Given the description of an element on the screen output the (x, y) to click on. 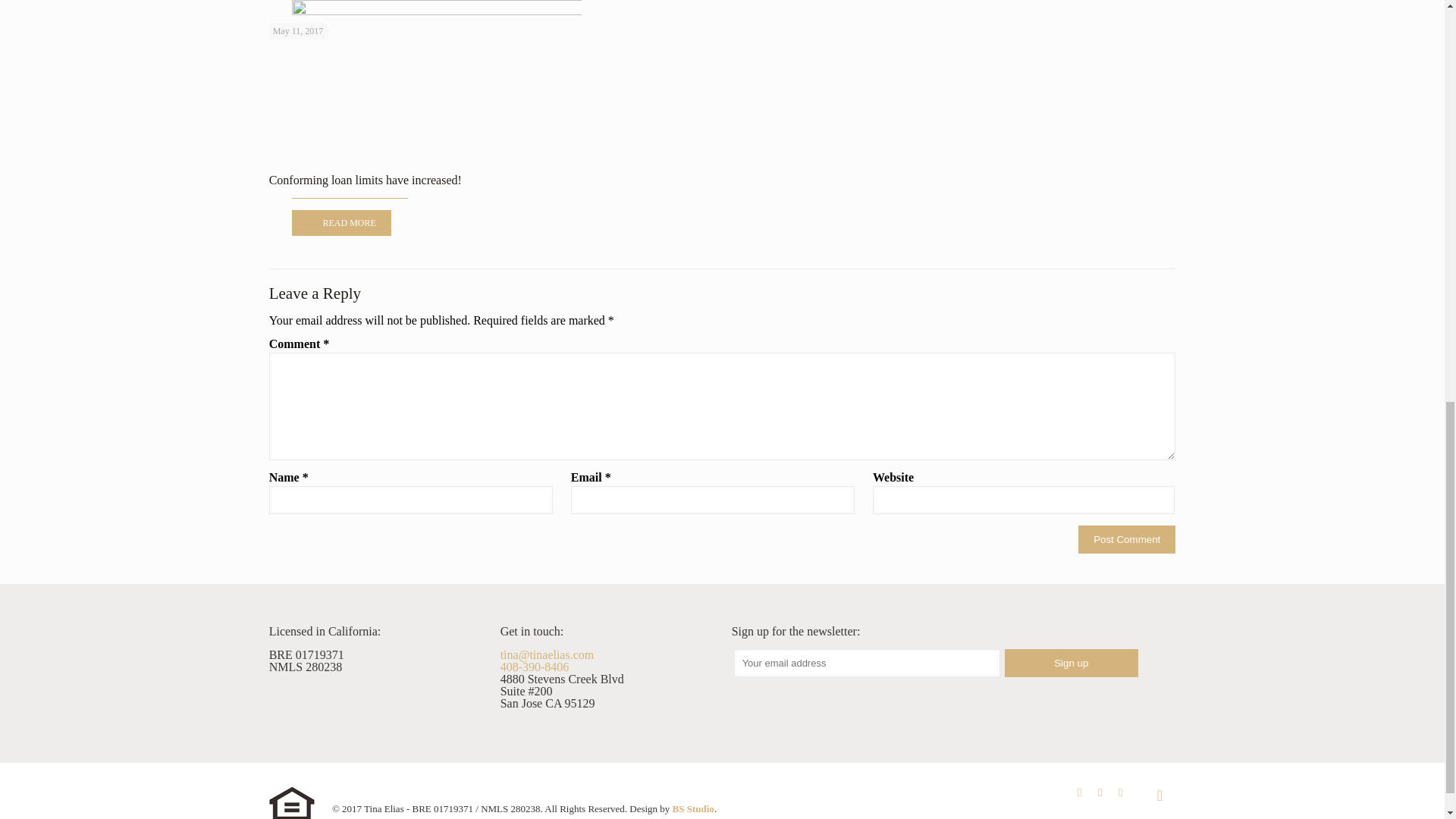
Sign up (1071, 663)
Facebook (1079, 792)
BS Studio (693, 808)
Post Comment (1126, 539)
408-390-8406 (534, 666)
READ MORE (341, 222)
Post Comment (1126, 539)
Sign up (1071, 663)
Conforming loan limits have increased! (365, 179)
Instagram (1120, 792)
LinkedIn (1100, 792)
